Given the description of an element on the screen output the (x, y) to click on. 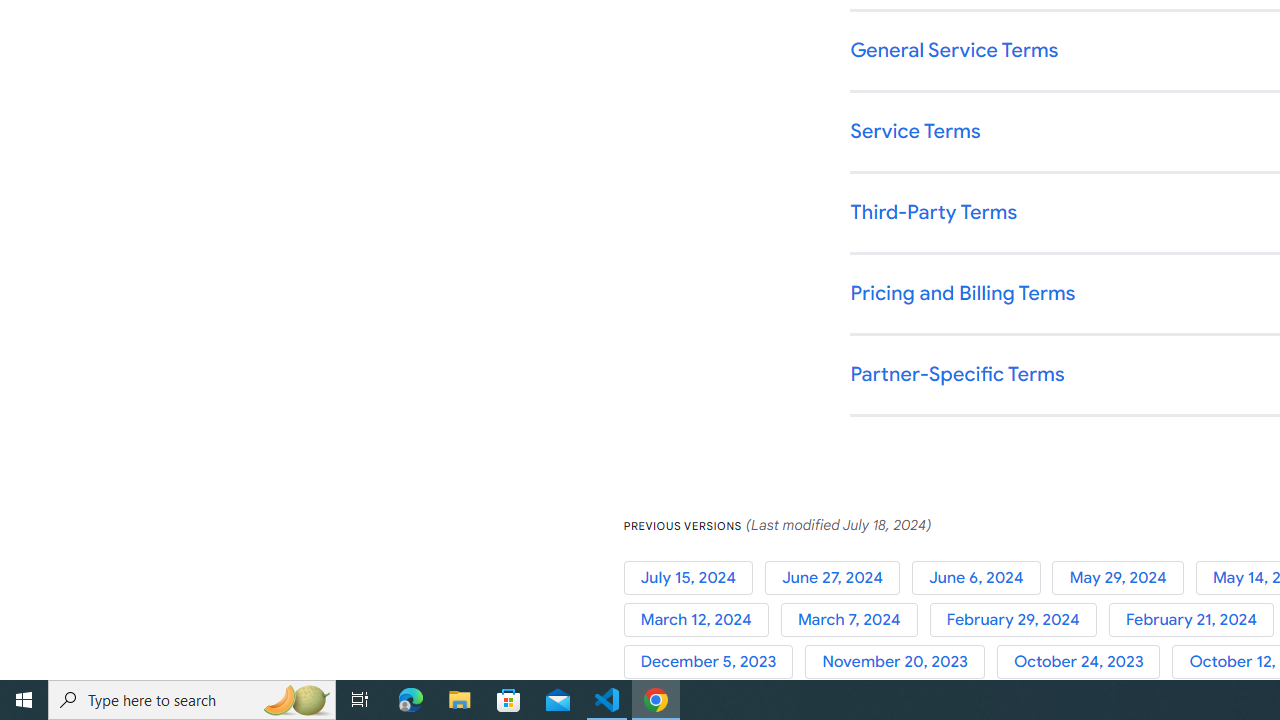
November 20, 2023 (901, 661)
July 15, 2024 (694, 577)
February 29, 2024 (1018, 620)
October 24, 2023 (1083, 661)
June 6, 2024 (982, 577)
May 29, 2024 (1123, 577)
March 7, 2024 (854, 620)
June 27, 2024 (837, 577)
March 12, 2024 (701, 620)
December 5, 2023 (714, 661)
